Given the description of an element on the screen output the (x, y) to click on. 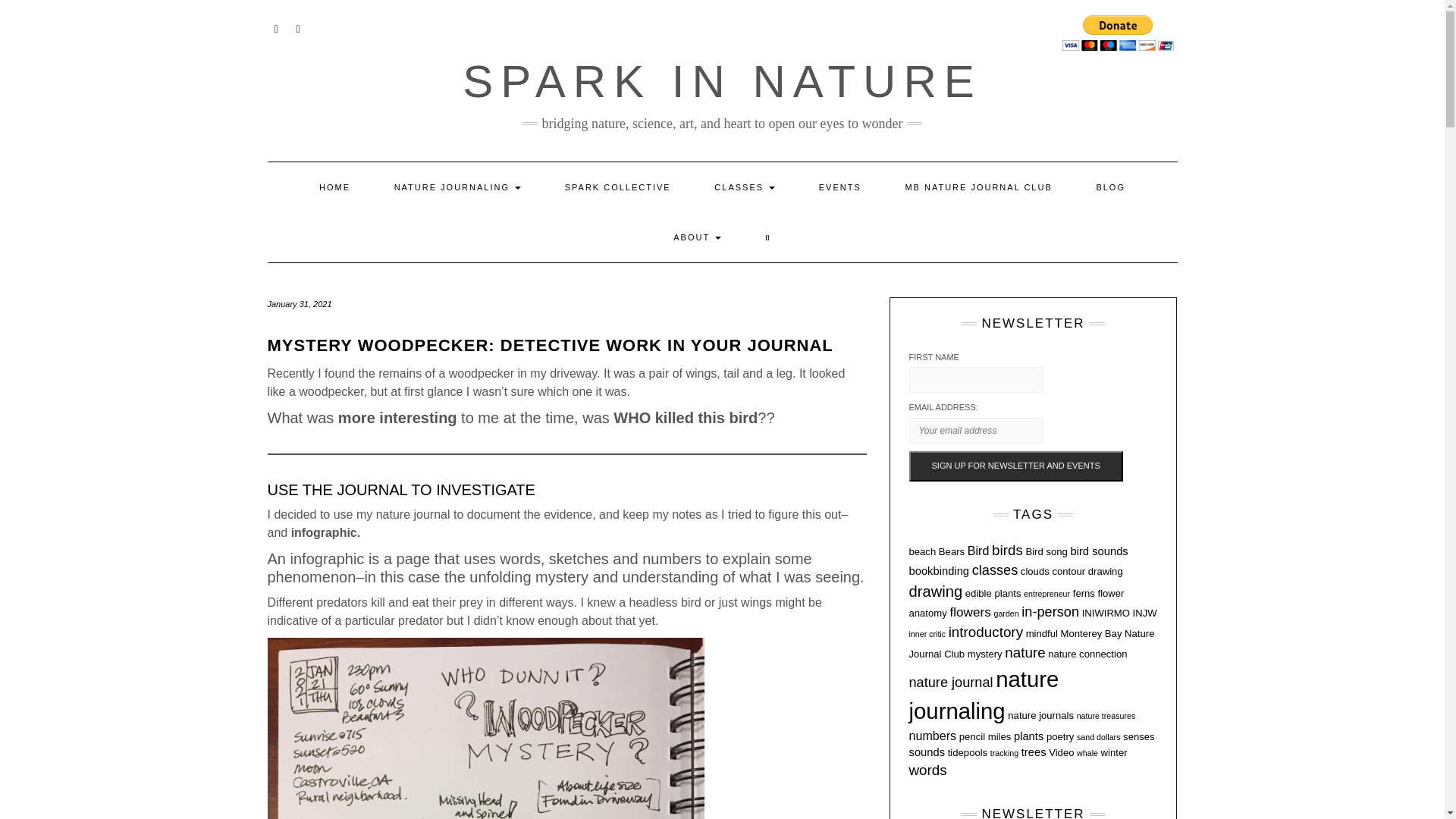
SPARK IN NATURE (722, 81)
Sign up for newsletter and events (1015, 466)
HOME (334, 187)
FACEBOOK (297, 27)
EVENTS (839, 187)
SPARK COLLECTIVE (617, 187)
BLOG (1110, 187)
INSTAGRAM (275, 27)
ABOUT (696, 237)
CLASSES (744, 187)
NATURE JOURNALING (457, 187)
MB NATURE JOURNAL CLUB (977, 187)
